Given the description of an element on the screen output the (x, y) to click on. 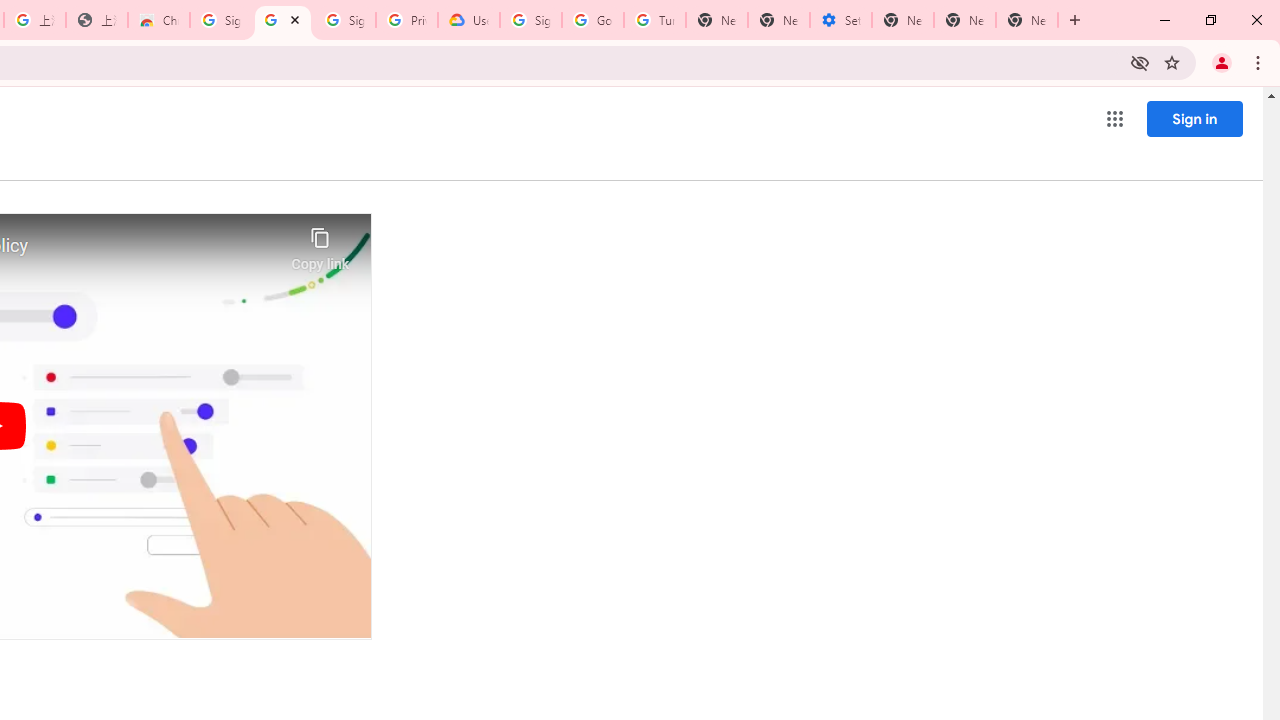
New Tab (716, 20)
Settings - System (840, 20)
New Tab (1026, 20)
Sign in - Google Accounts (530, 20)
Chrome Web Store - Color themes by Chrome (158, 20)
Sign in - Google Accounts (220, 20)
